Given the description of an element on the screen output the (x, y) to click on. 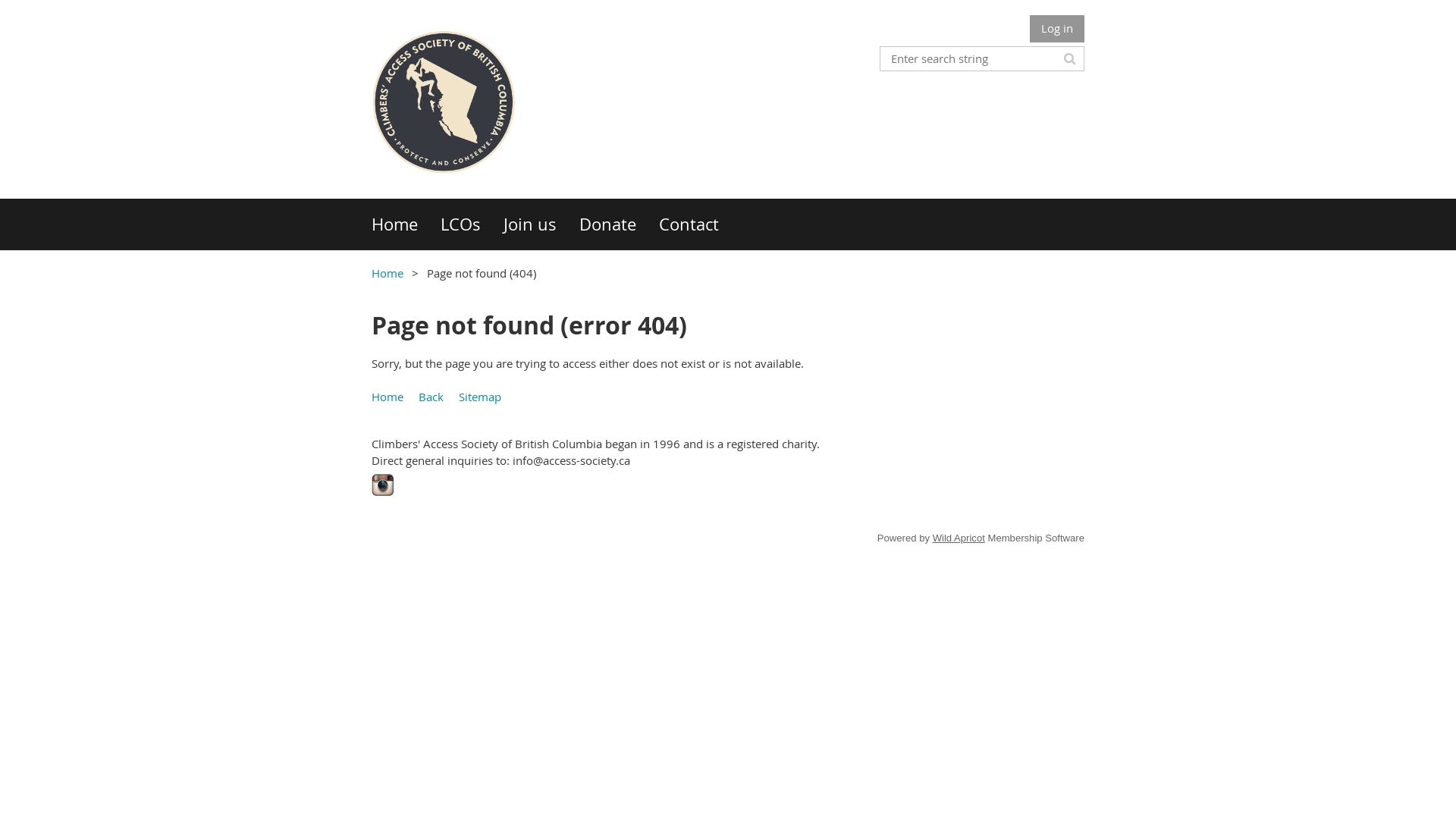
Join us Element type: text (541, 224)
Donate Element type: text (618, 224)
Sitemap Element type: text (479, 396)
Contact Element type: text (699, 224)
Instagram Element type: hover (382, 484)
LCOs Element type: text (471, 224)
Wild Apricot Element type: text (958, 537)
Back Element type: text (430, 396)
Log in Element type: text (1056, 28)
Home Element type: text (387, 396)
Home Element type: text (405, 224)
Home Element type: text (387, 272)
